Given the description of an element on the screen output the (x, y) to click on. 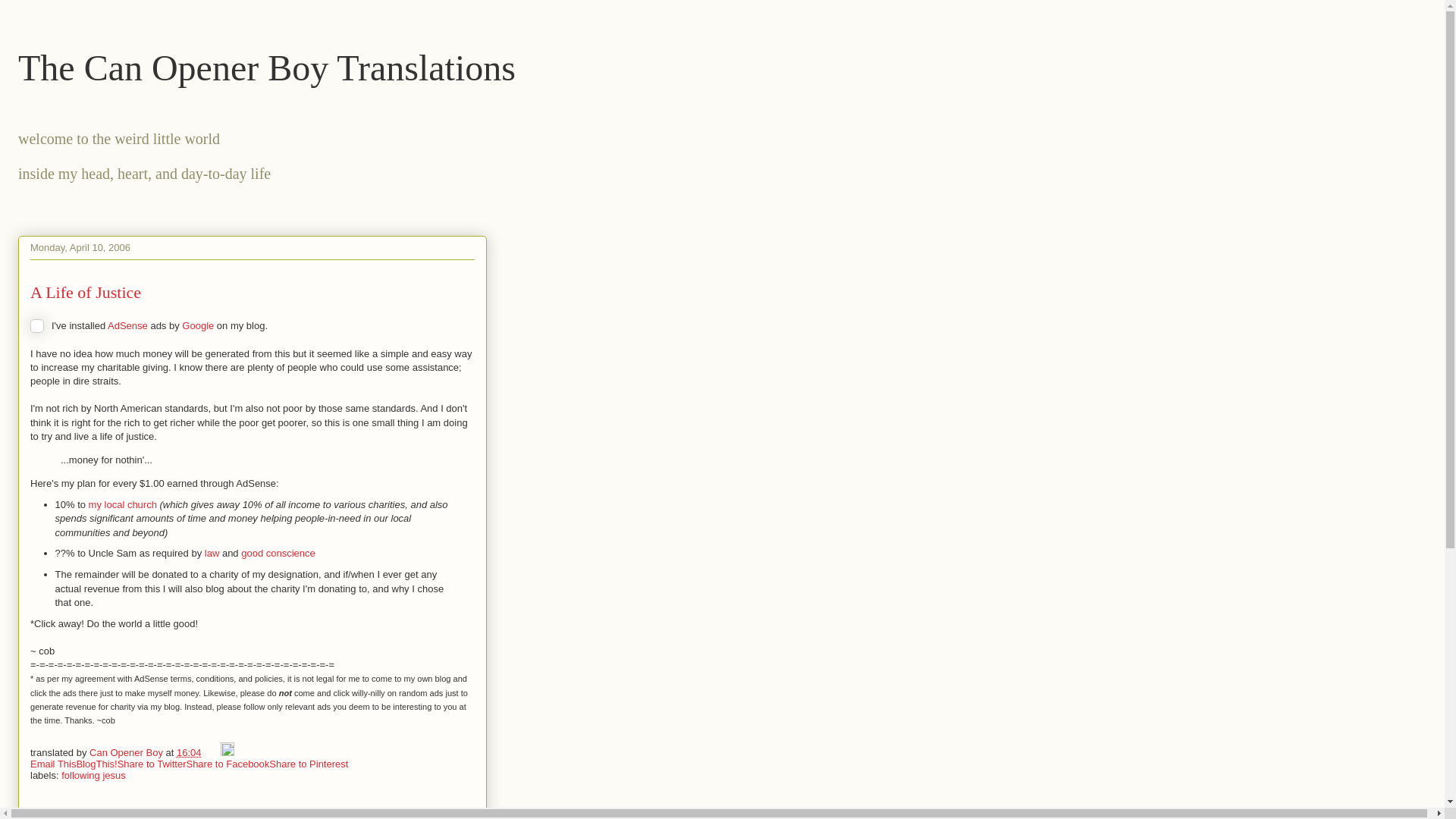
Email Post (212, 752)
Share to Facebook (227, 763)
BlogThis! (95, 763)
16:04 (189, 752)
The Can Opener Boy Translations (266, 67)
BlogThis! (95, 763)
Email This (52, 763)
good conscience (278, 552)
Email This (52, 763)
Share to Twitter (151, 763)
permanent link (189, 752)
AdSense (127, 325)
Share to Facebook (227, 763)
Edit Post (227, 752)
my local church (122, 504)
